Given the description of an element on the screen output the (x, y) to click on. 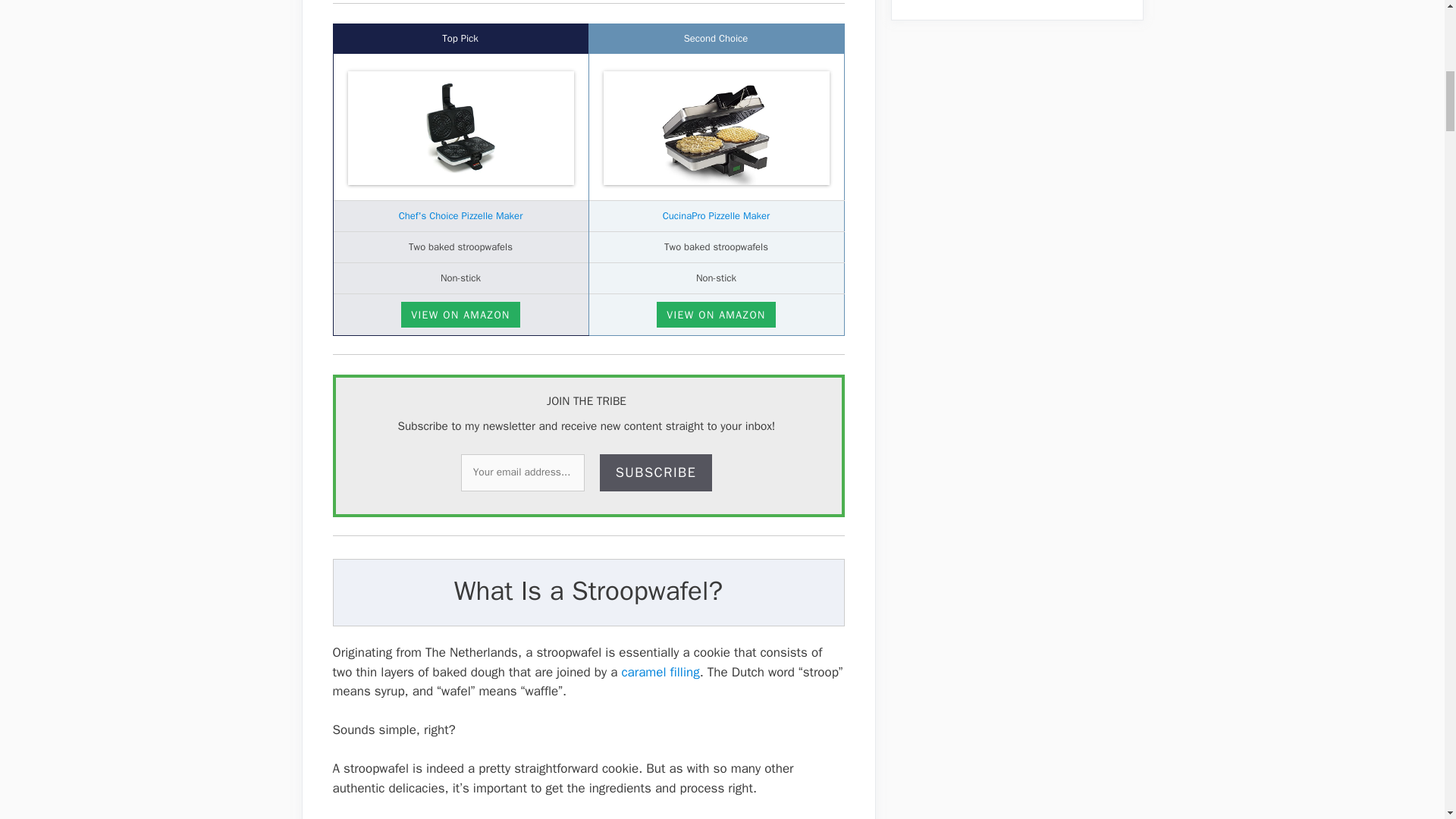
Chef's Choice Pizzelle Maker (460, 215)
VIEW ON AMAZON (715, 314)
CucinaPro Pizzelle Maker (716, 215)
VIEW ON AMAZON (460, 314)
caramel filling (659, 672)
Subscribe (656, 472)
Subscribe (656, 472)
